Given the description of an element on the screen output the (x, y) to click on. 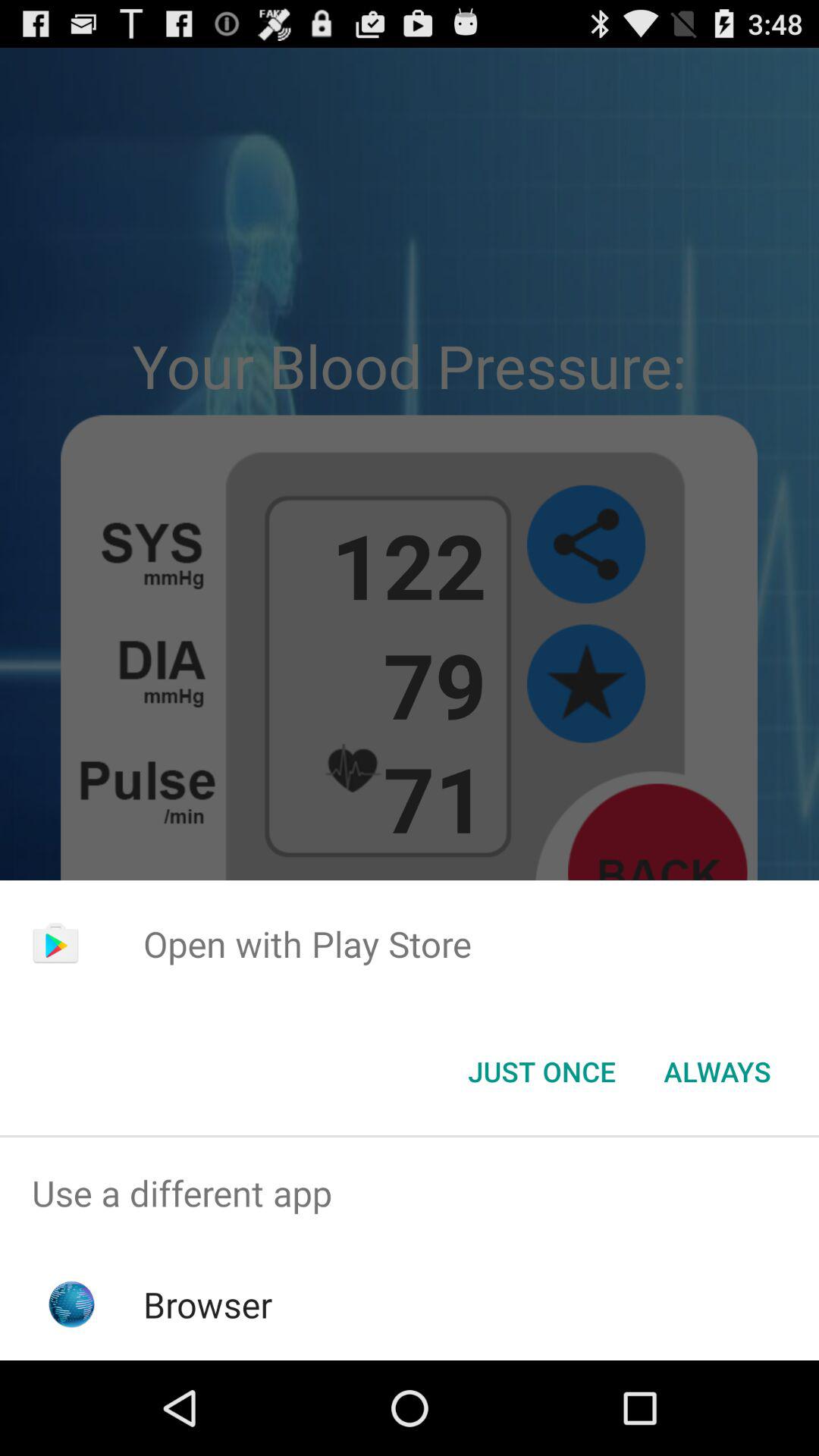
press the icon below the open with play app (541, 1071)
